Given the description of an element on the screen output the (x, y) to click on. 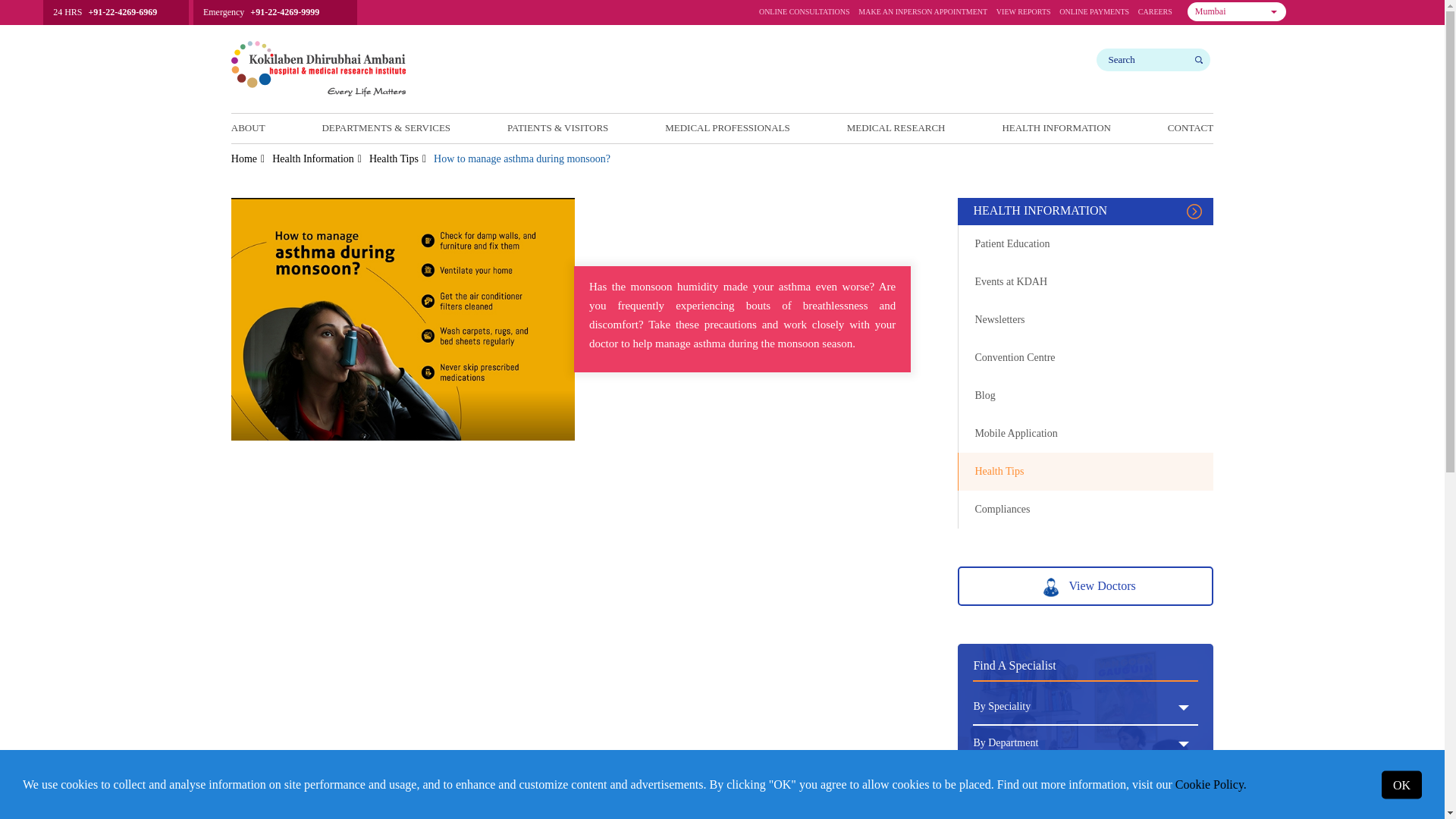
VIEW REPORTS (1023, 14)
ONLINE PAYMENTS (1236, 11)
Mumbai (1094, 14)
CAREERS (1236, 11)
MAKE AN INPERSON APPOINTMENT (1155, 14)
ABOUT (923, 14)
ONLINE CONSULTATIONS (247, 127)
